Given the description of an element on the screen output the (x, y) to click on. 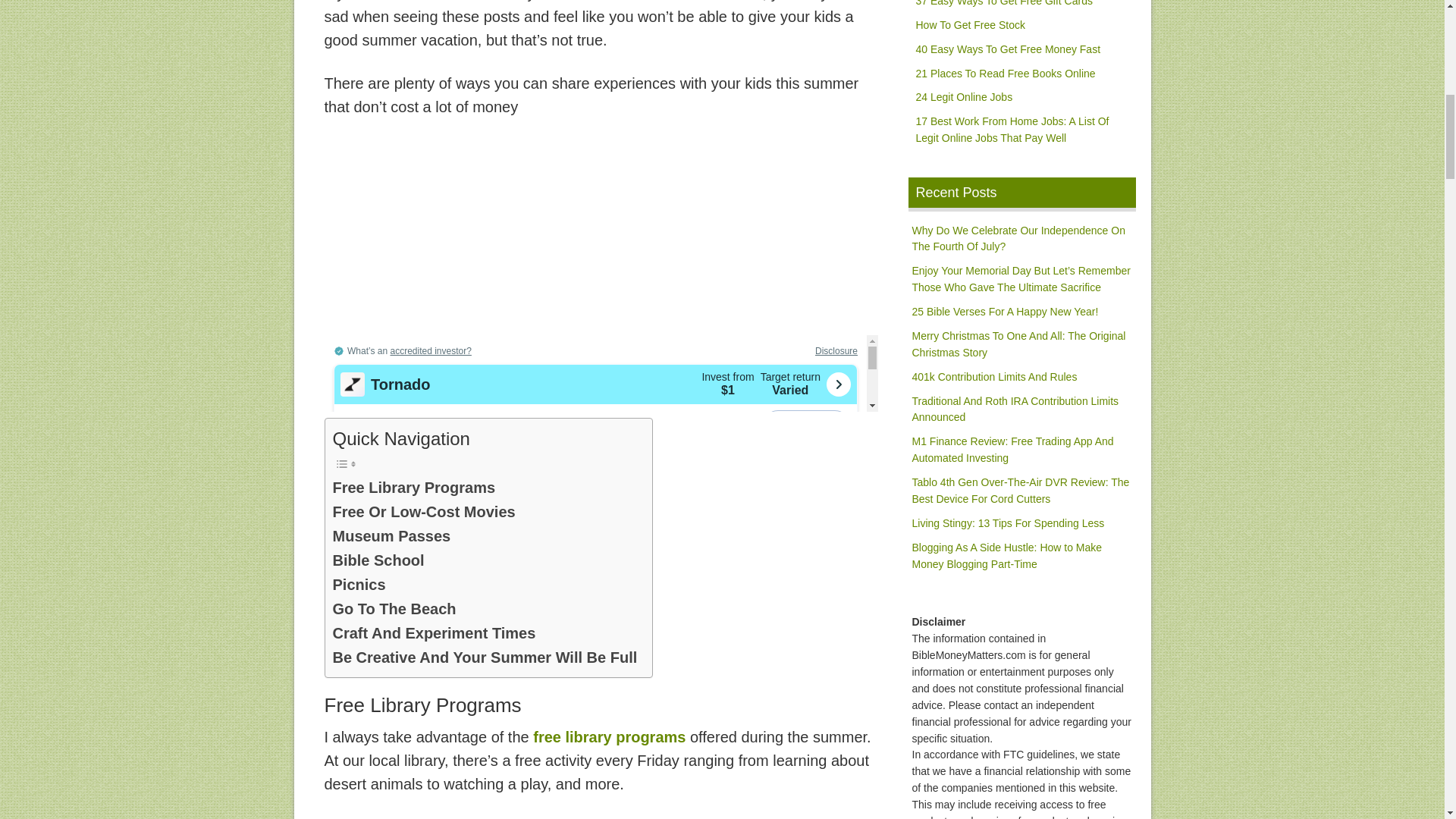
Craft And Experiment Times (433, 632)
Free Library Programs (413, 487)
Picnics (358, 584)
Bible School (377, 559)
Free Or Low-Cost Movies (423, 511)
Go To The Beach (393, 608)
Be Creative And Your Summer Will Be Full (484, 657)
Museum Passes (390, 535)
